Given the description of an element on the screen output the (x, y) to click on. 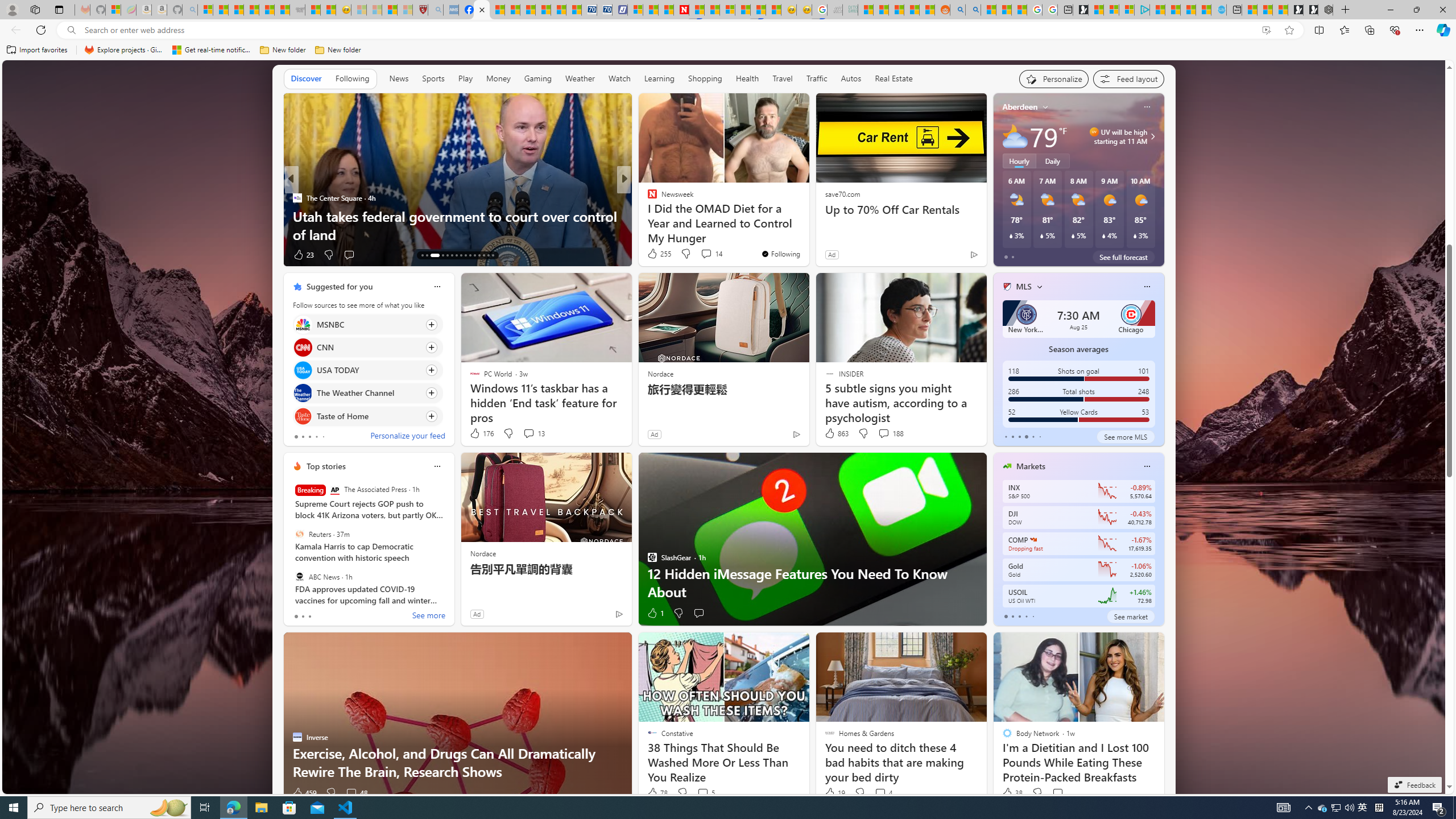
Taste of Home (302, 416)
19 Like (834, 792)
2k Like (652, 254)
Markets (1030, 466)
MSNBC (302, 324)
21 Like (303, 254)
Class: weather-current-precipitation-glyph (1134, 235)
14 Like (652, 254)
More interests (1039, 286)
